Given the description of an element on the screen output the (x, y) to click on. 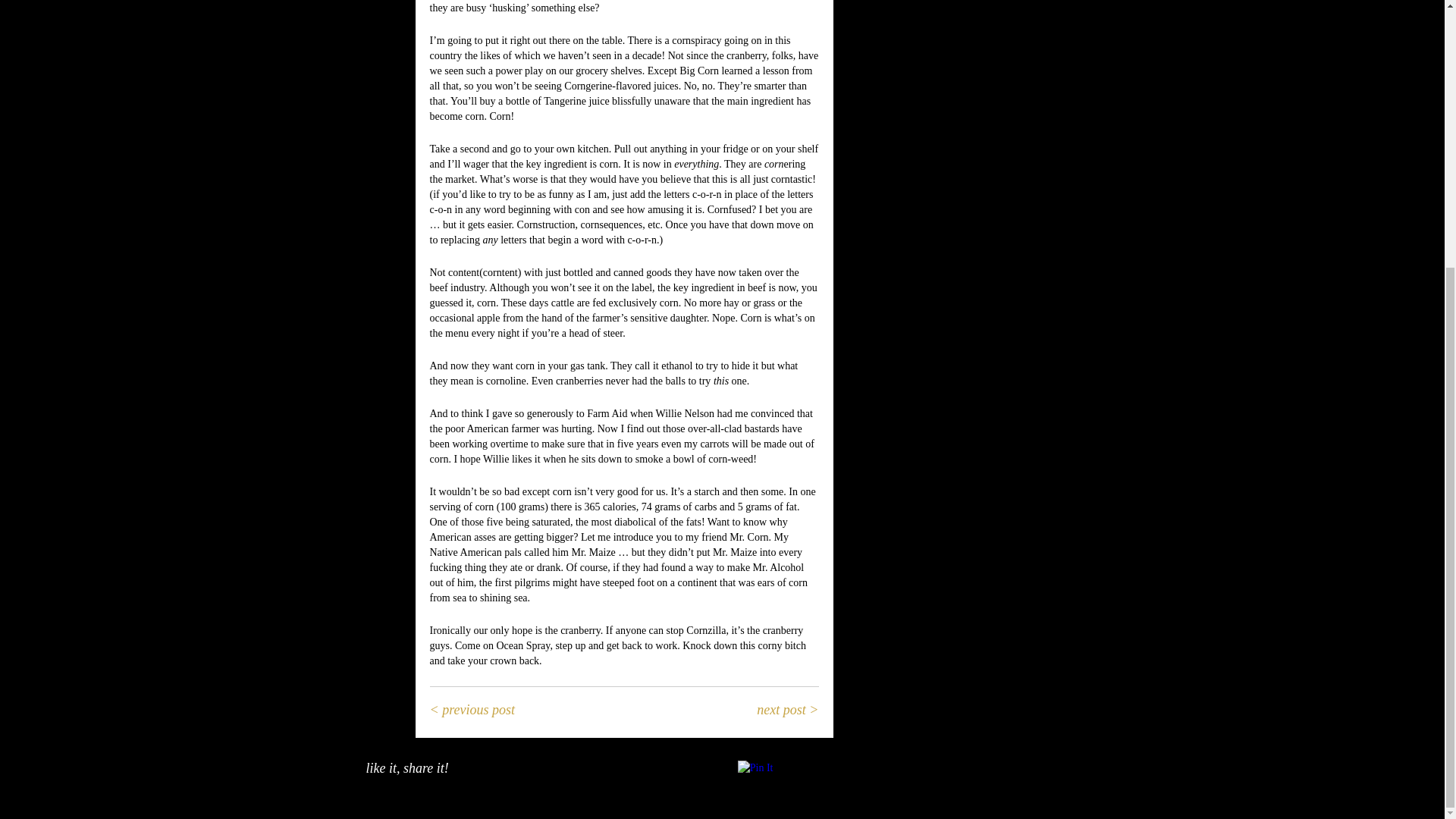
Pin It (755, 767)
